Given the description of an element on the screen output the (x, y) to click on. 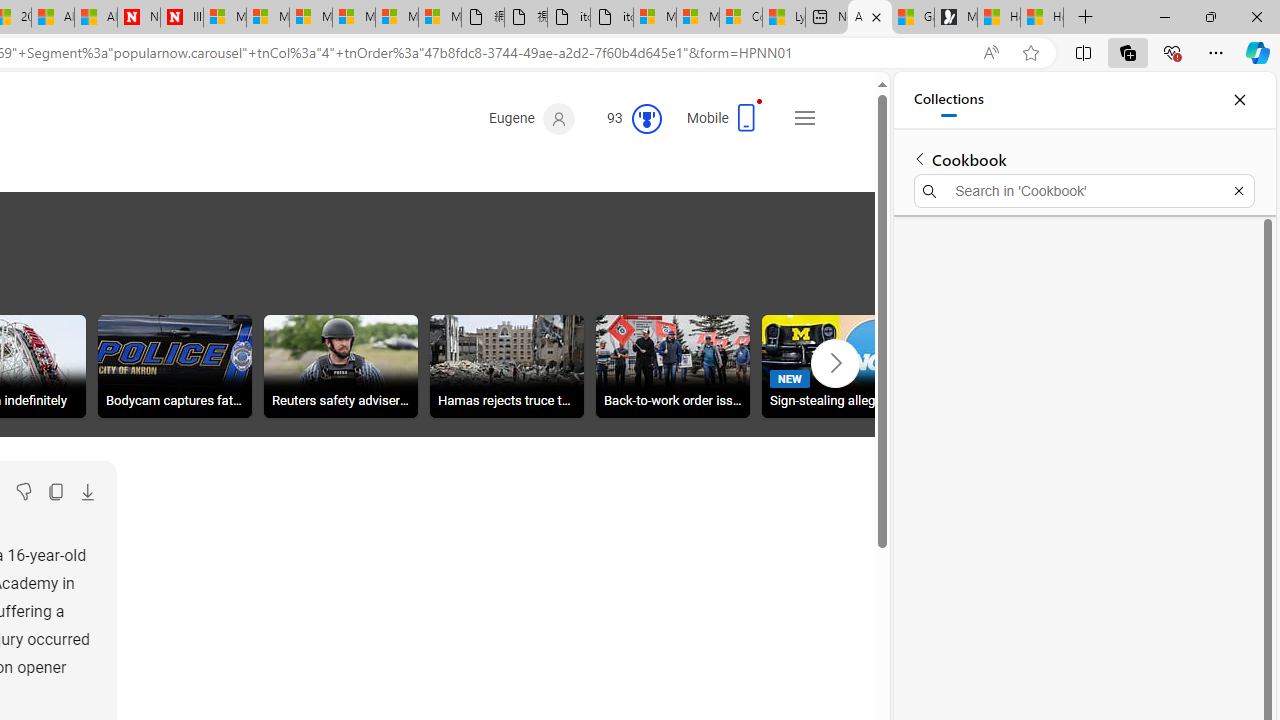
Hamas rejects truce terms (506, 369)
Reuters safety adviser killed (340, 369)
Back-to-work order issued (673, 369)
Export (87, 491)
Reuters safety adviser killed (340, 365)
Back to list of collections (920, 158)
